Given the description of an element on the screen output the (x, y) to click on. 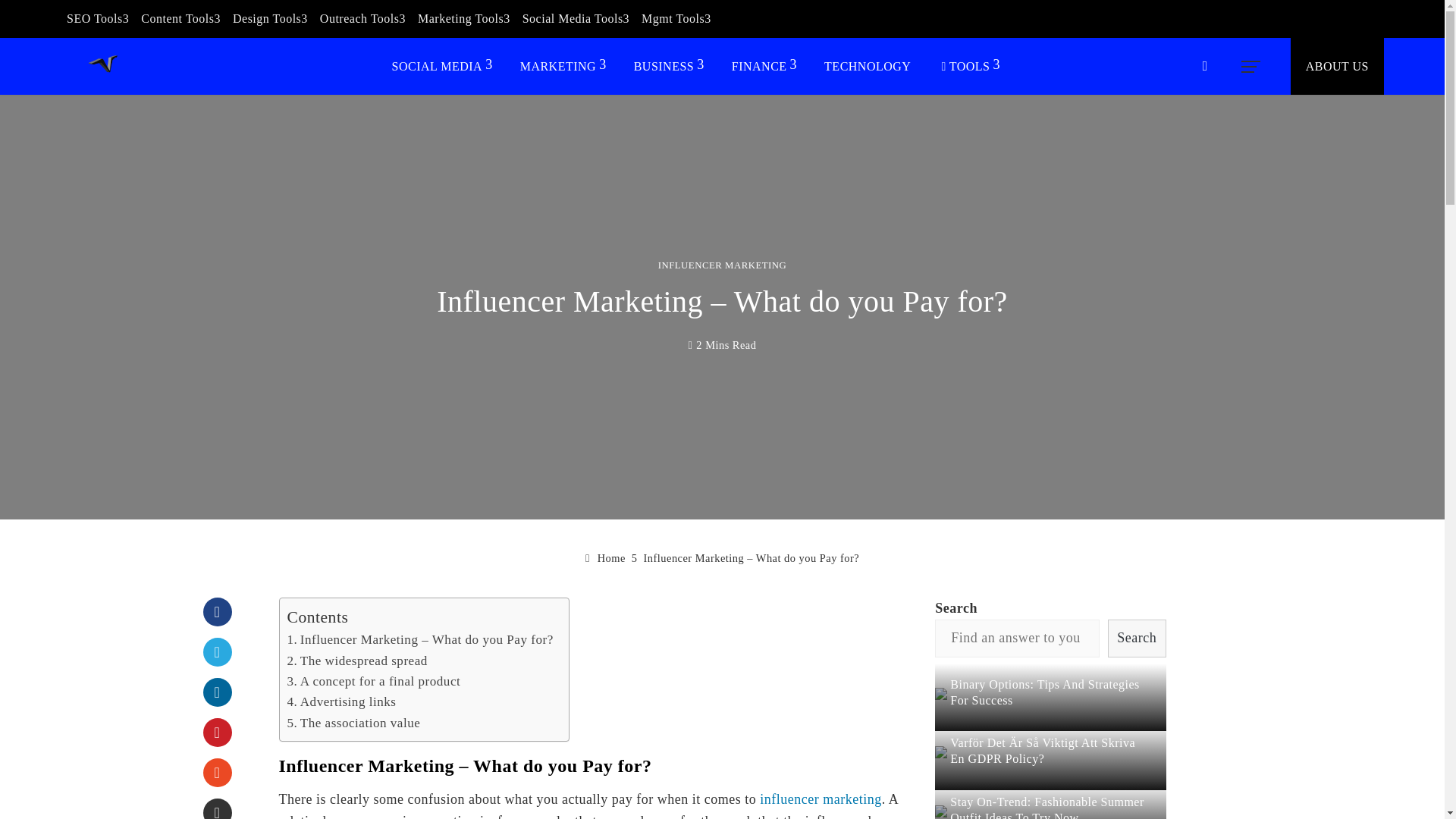
Content Tools (181, 18)
Marketing Tools (464, 18)
Design Tools (269, 18)
A concept for a final product (373, 681)
Outreach Tools (363, 18)
SEO Tools (97, 18)
The widespread spread (356, 660)
The association value (353, 722)
Advertising links (341, 701)
